Given the description of an element on the screen output the (x, y) to click on. 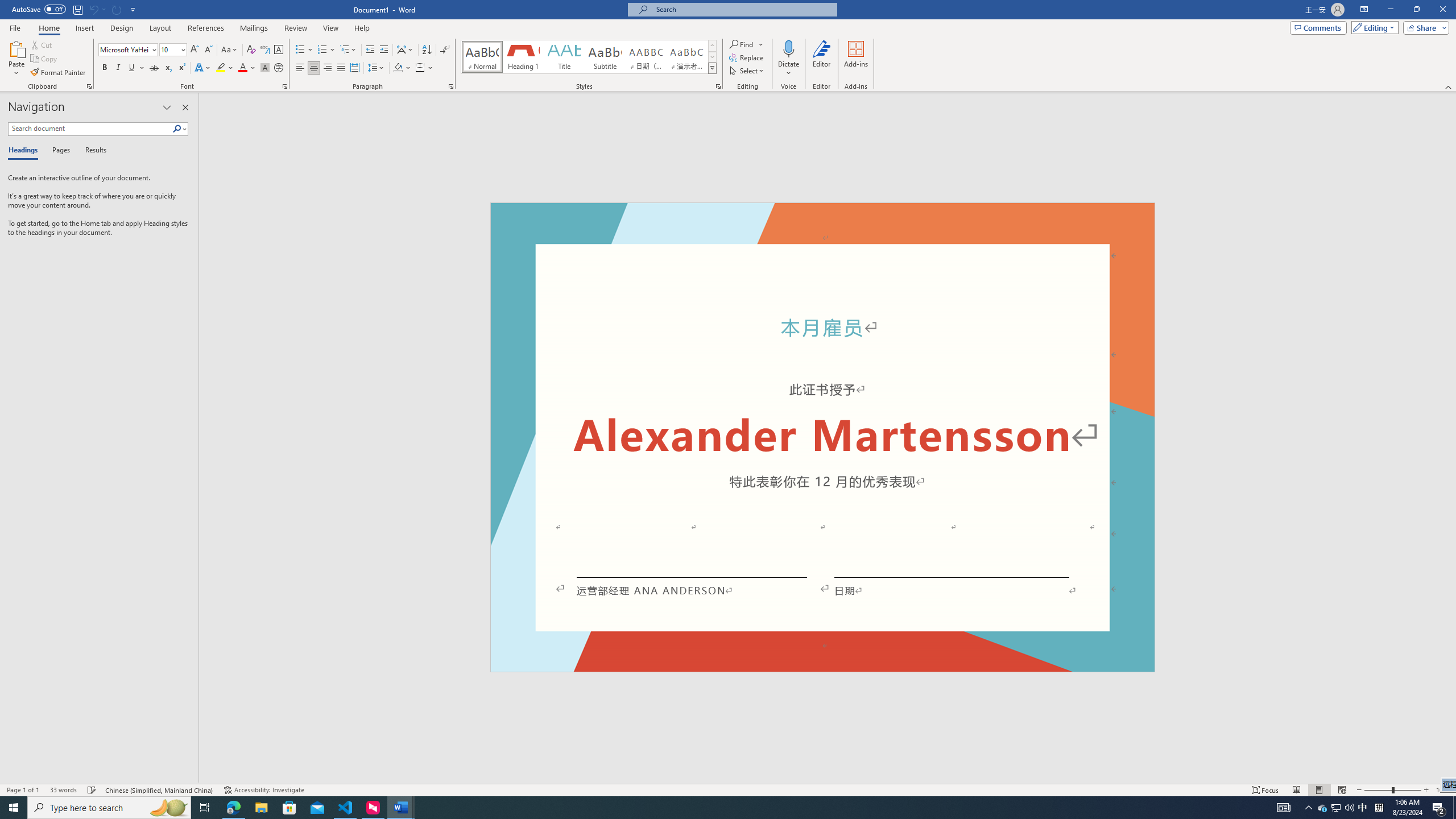
Zoom (1392, 790)
Close pane (185, 107)
Editor (821, 58)
Header -Section 1- (822, 216)
Character Shading (264, 67)
Subscript (167, 67)
Sort... (426, 49)
Enclose Characters... (278, 67)
